Given the description of an element on the screen output the (x, y) to click on. 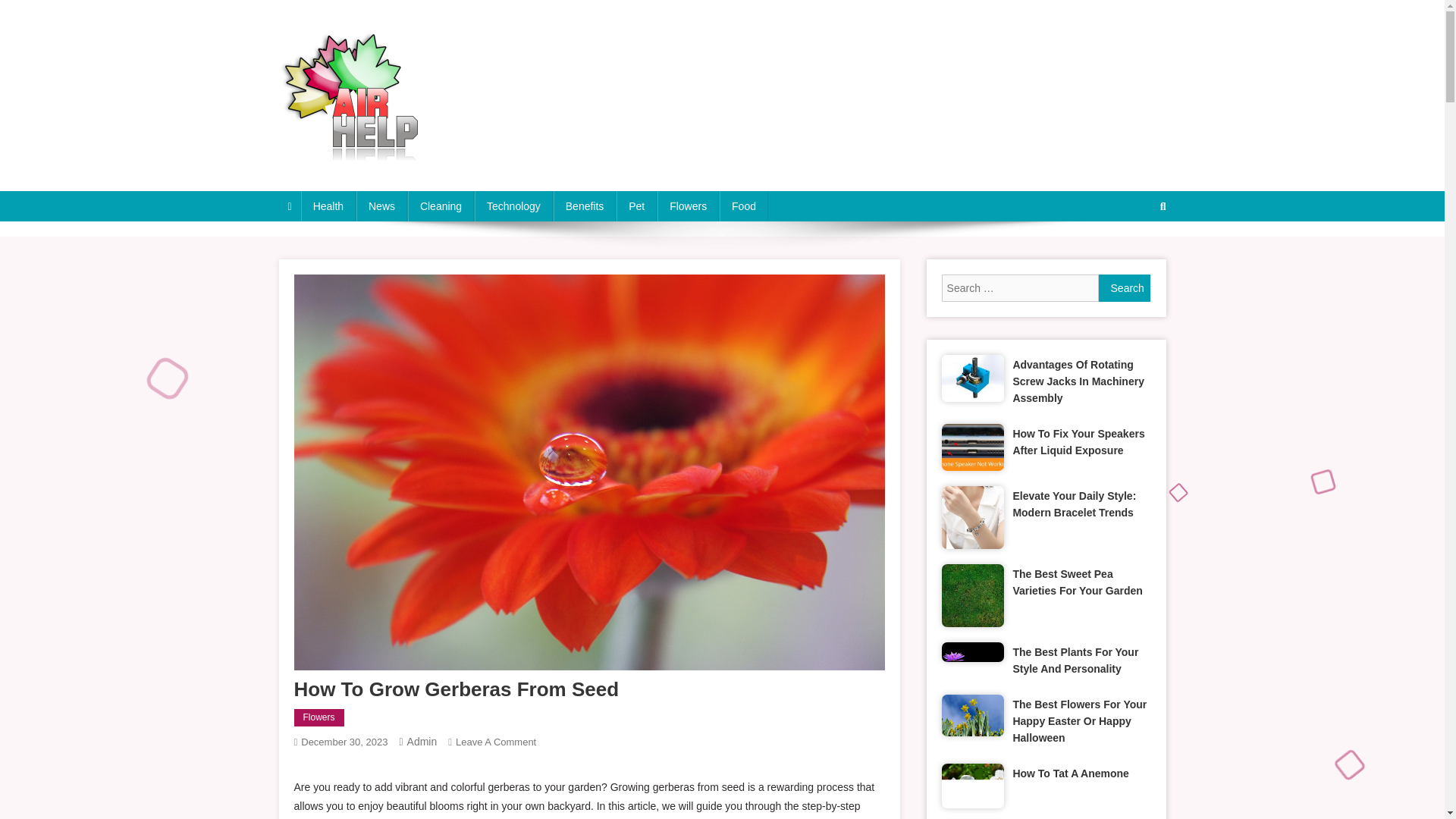
Health (328, 205)
Search (1125, 288)
Food (743, 205)
Cleaning (440, 205)
Search (1125, 288)
Advantages Of Rotating Screw Jacks In Machinery Assembly (1080, 381)
Pet (635, 205)
Flowers (688, 205)
Flowers (495, 741)
Benefits (318, 718)
Technology (584, 205)
News (513, 205)
Search (381, 205)
Admin (1133, 257)
